Given the description of an element on the screen output the (x, y) to click on. 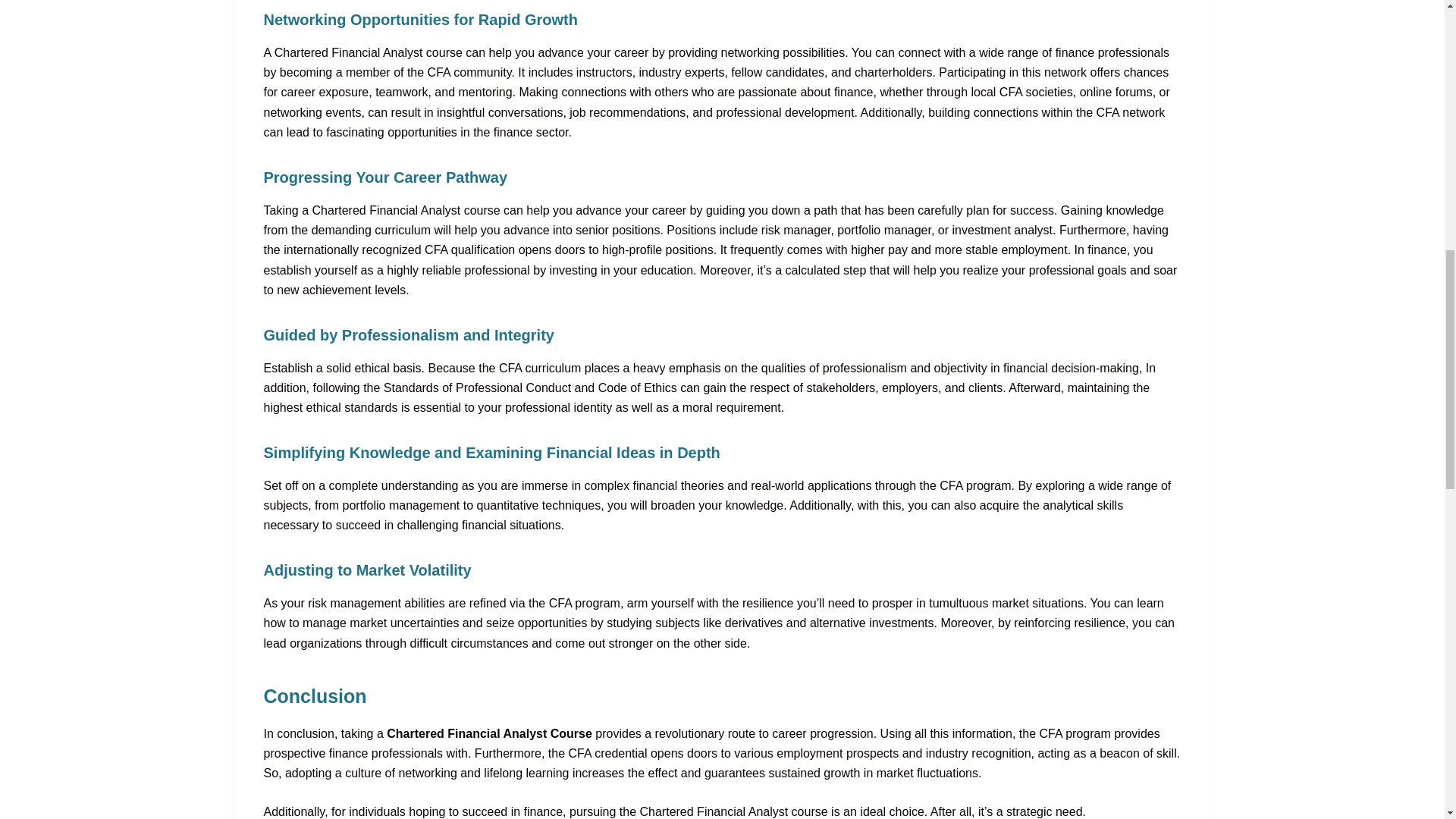
Chartered Financial Analyst Course (491, 733)
